Given the description of an element on the screen output the (x, y) to click on. 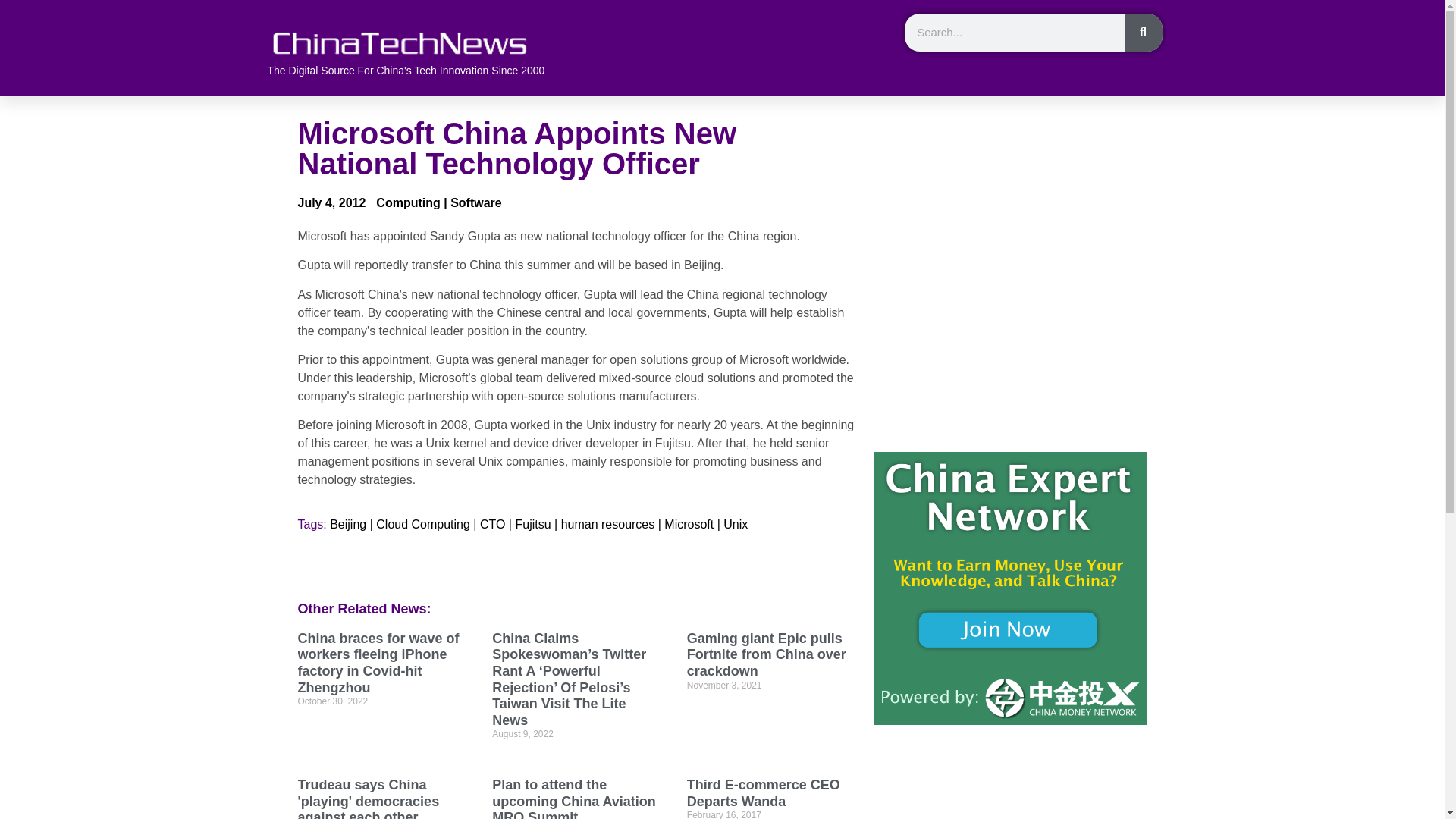
Cloud Computing (422, 524)
Software (475, 203)
Third E-commerce CEO Departs Wanda (763, 793)
Microsoft (688, 524)
human resources (607, 524)
Gaming giant Epic pulls Fortnite from China over crackdown (766, 654)
Advertisement (1010, 223)
Plan to attend the upcoming China Aviation MRO Summit (574, 798)
Fujitsu (532, 524)
Unix (735, 524)
